Given the description of an element on the screen output the (x, y) to click on. 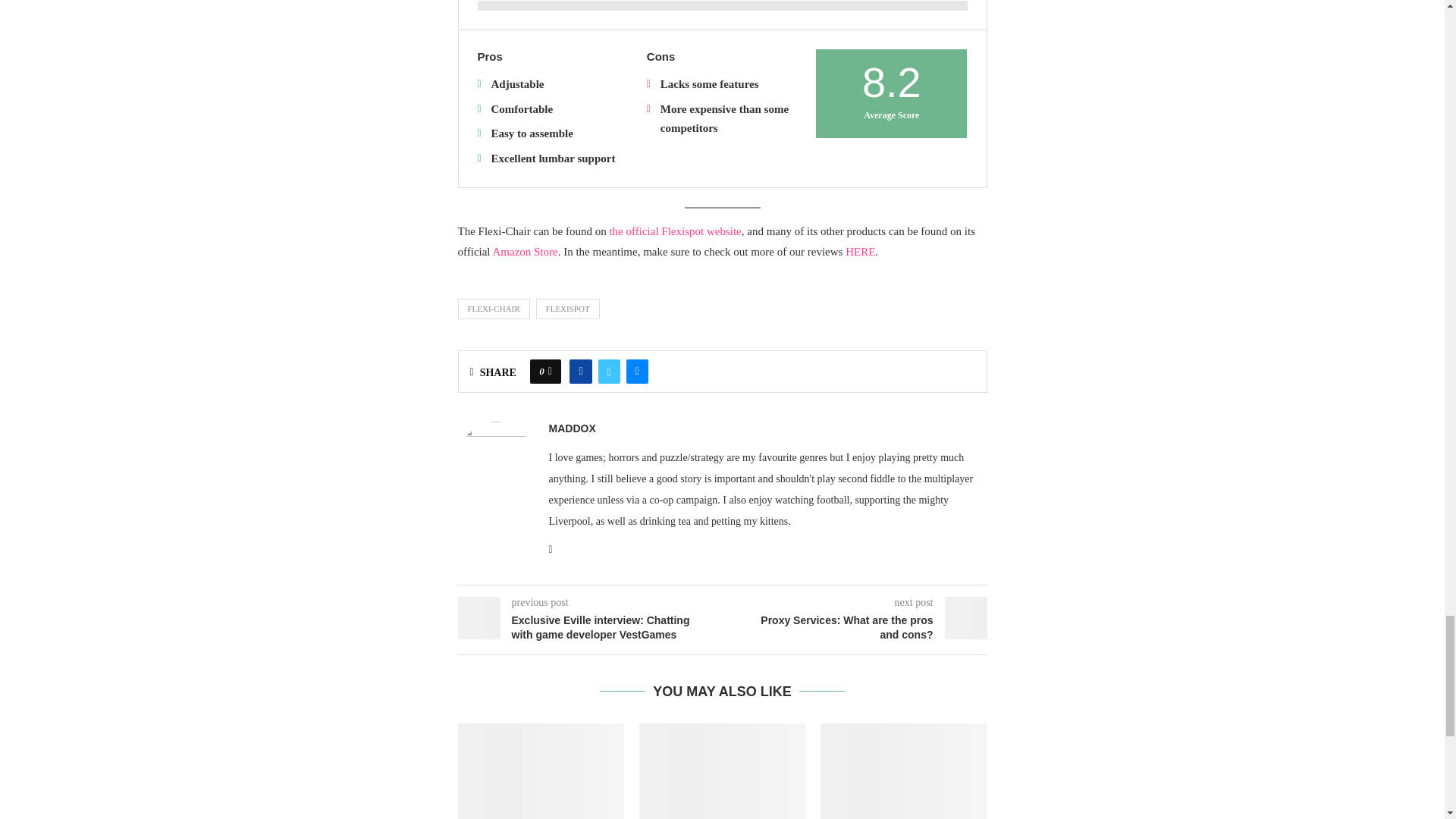
Fights in Tight Spaces: Quick look review (904, 771)
Author MaddOx (571, 428)
